Given the description of an element on the screen output the (x, y) to click on. 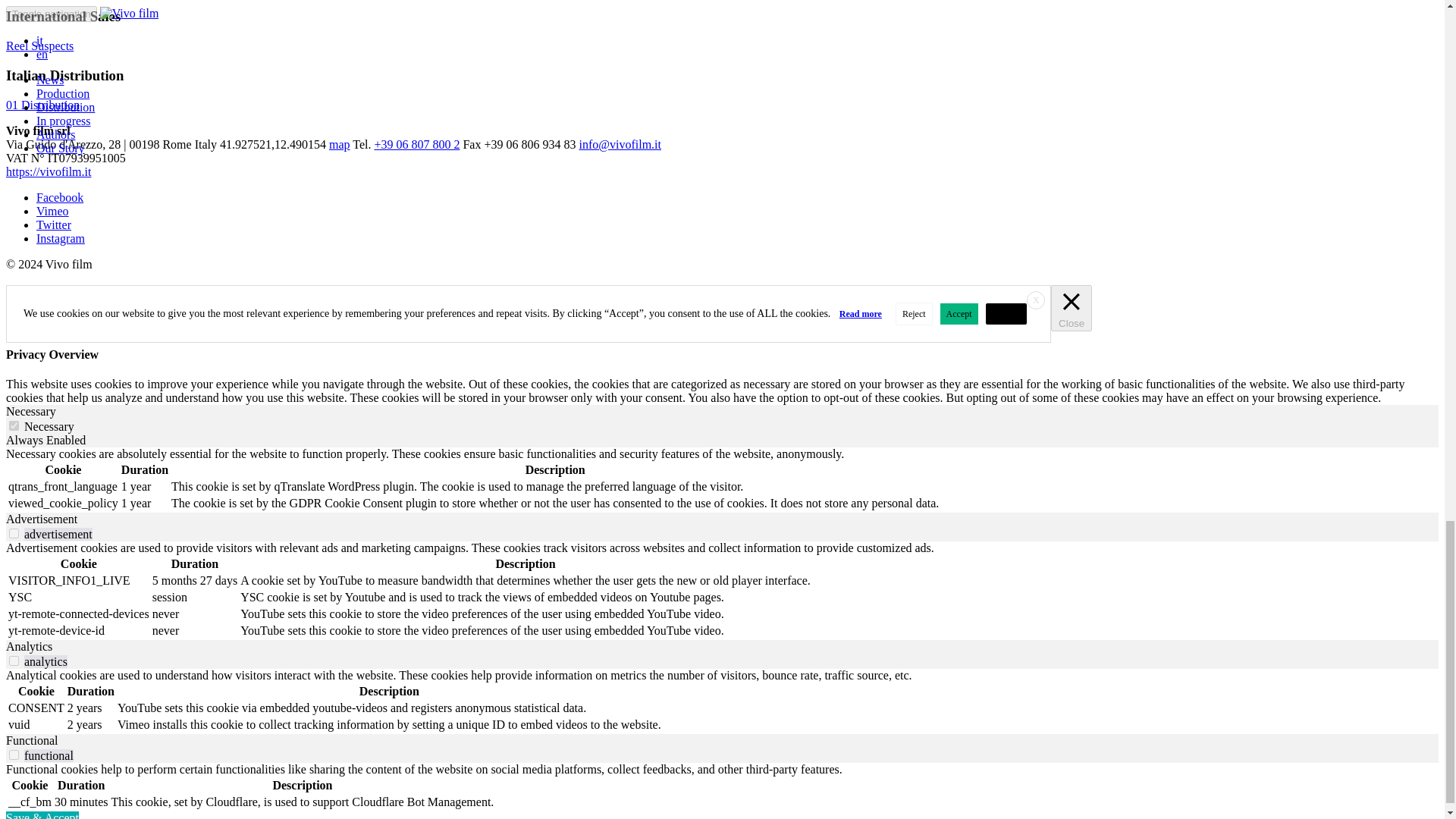
map (339, 144)
Advertisement (41, 518)
Reject (914, 313)
Necessary (30, 410)
on (13, 660)
X (1035, 300)
on (13, 533)
Accept (959, 313)
Settings (1006, 313)
Close and Accept (1035, 300)
